Given the description of an element on the screen output the (x, y) to click on. 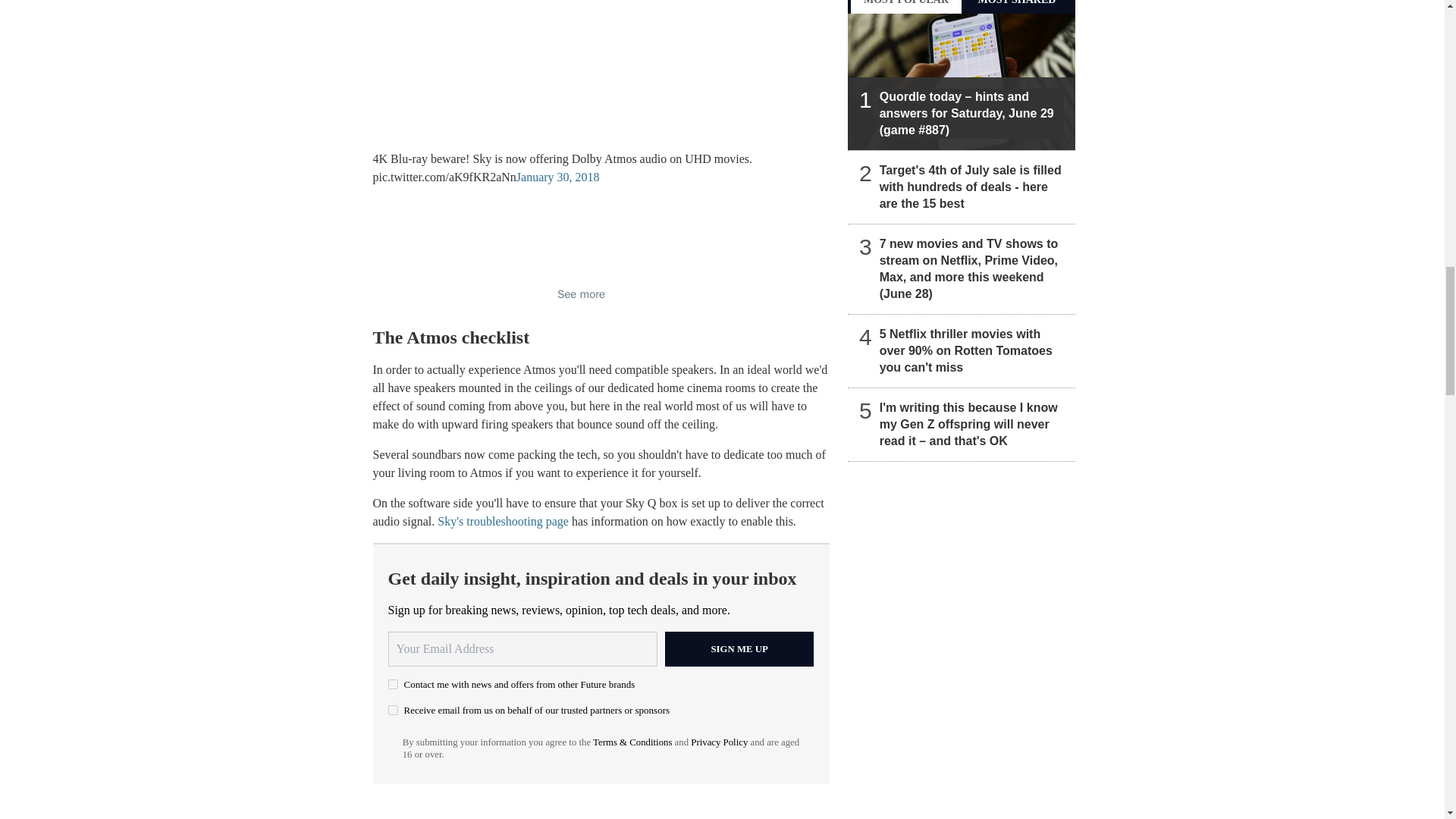
Sign me up (739, 648)
on (392, 709)
on (392, 684)
